Given the description of an element on the screen output the (x, y) to click on. 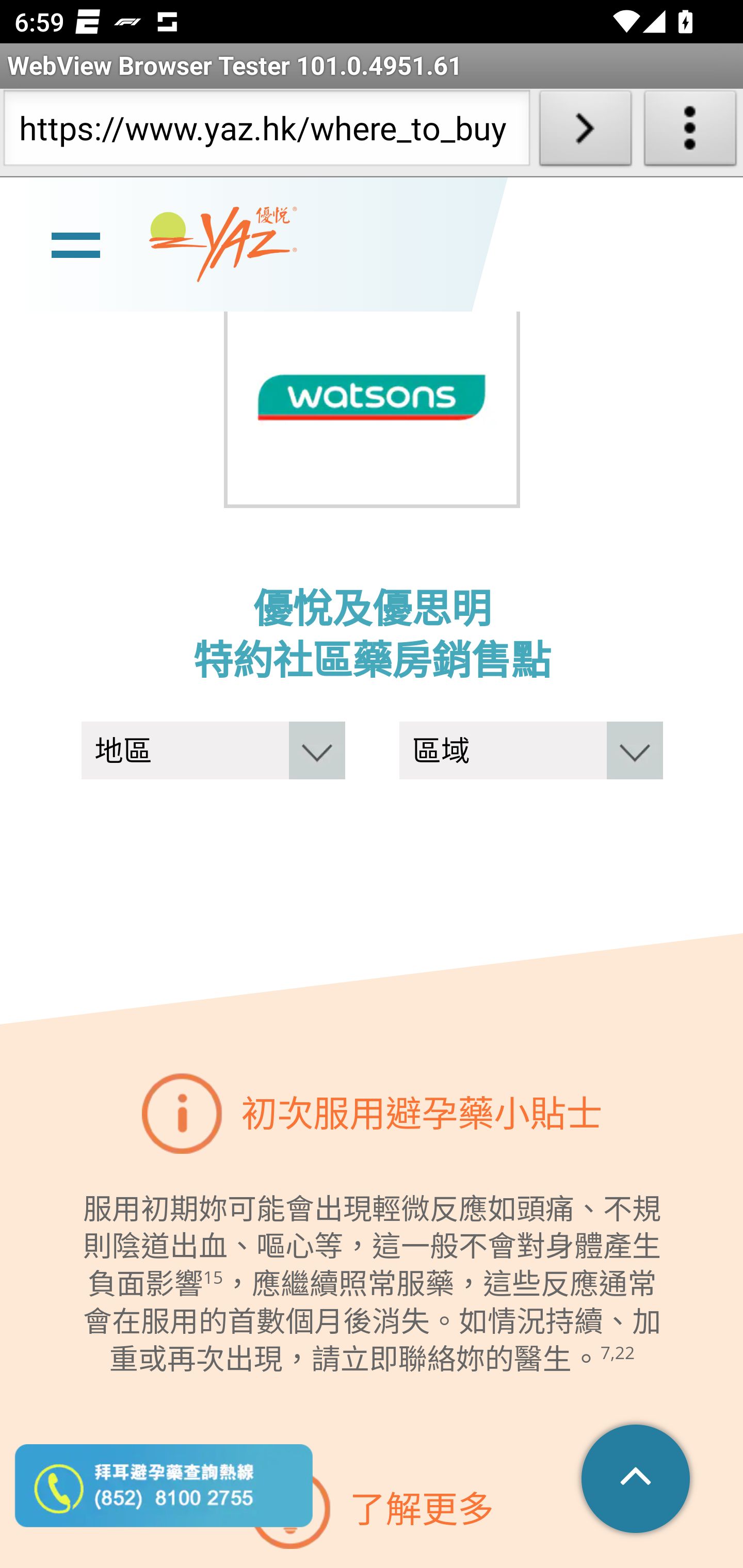
https://www.yaz.hk/where_to_buy (266, 132)
Load URL (585, 132)
About WebView (690, 132)
www.yaz (222, 244)
line Toggle burger menu (75, 243)
BP_204260 (371, 399)
地區 (212, 752)
區域 (530, 752)
 (636, 1480)
